Given the description of an element on the screen output the (x, y) to click on. 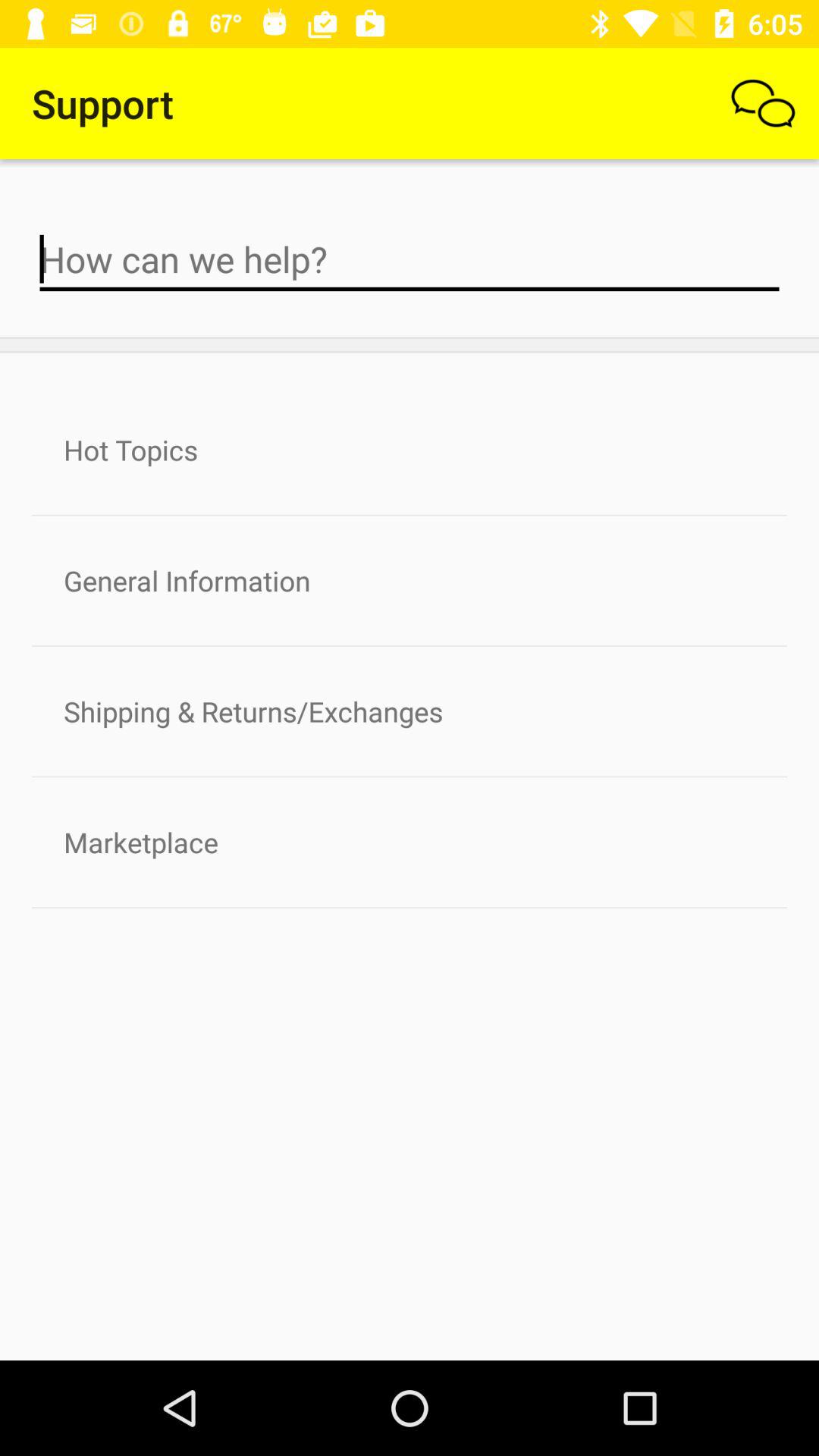
press the general information icon (409, 580)
